Given the description of an element on the screen output the (x, y) to click on. 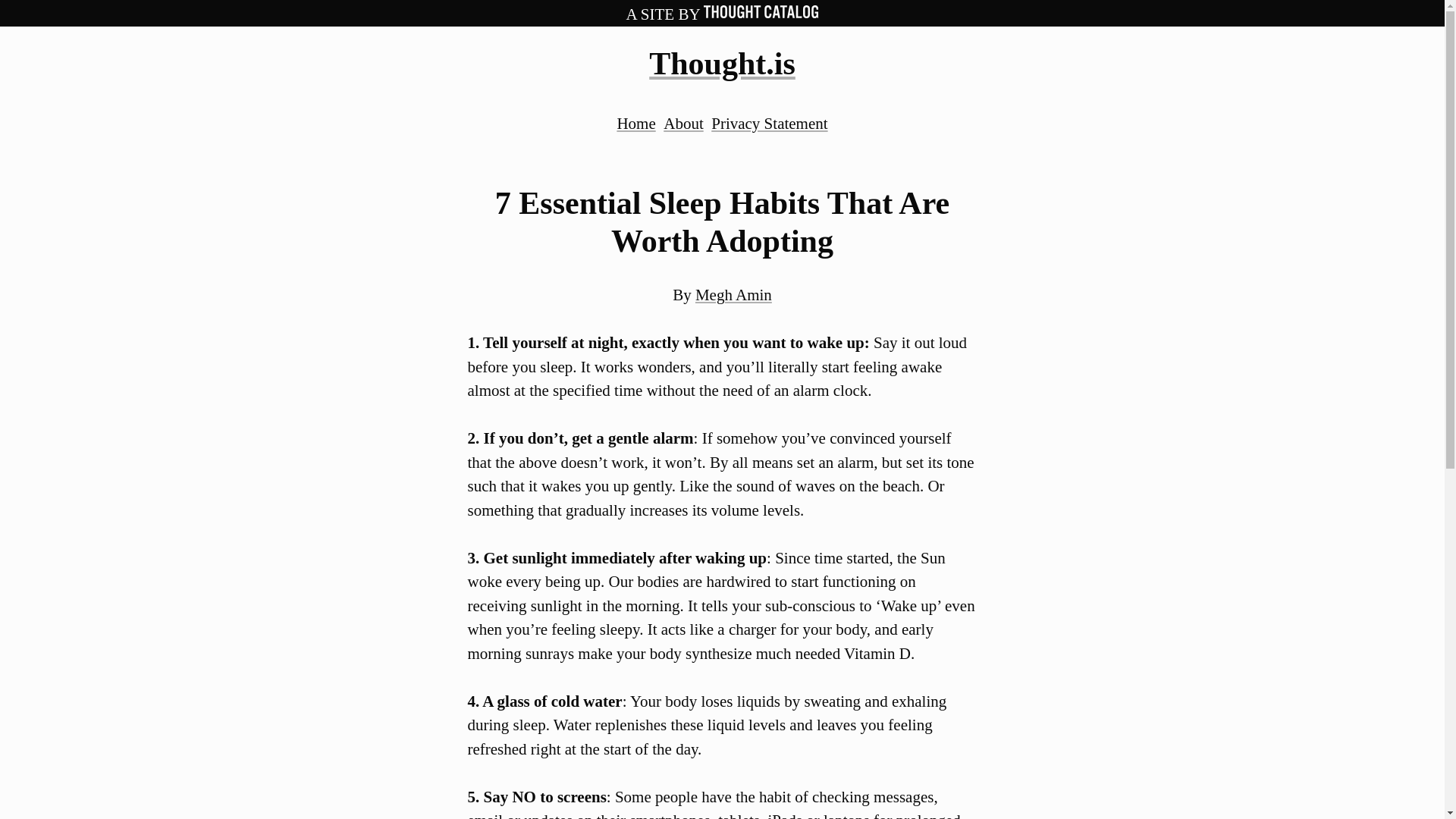
Posts by Megh Amin (733, 294)
About (683, 123)
THOUGHT CATALOG (760, 13)
Home (635, 123)
Thought.is (721, 63)
Privacy Statement (769, 123)
Megh Amin (733, 294)
THOUGHT CATALOG (760, 11)
